Given the description of an element on the screen output the (x, y) to click on. 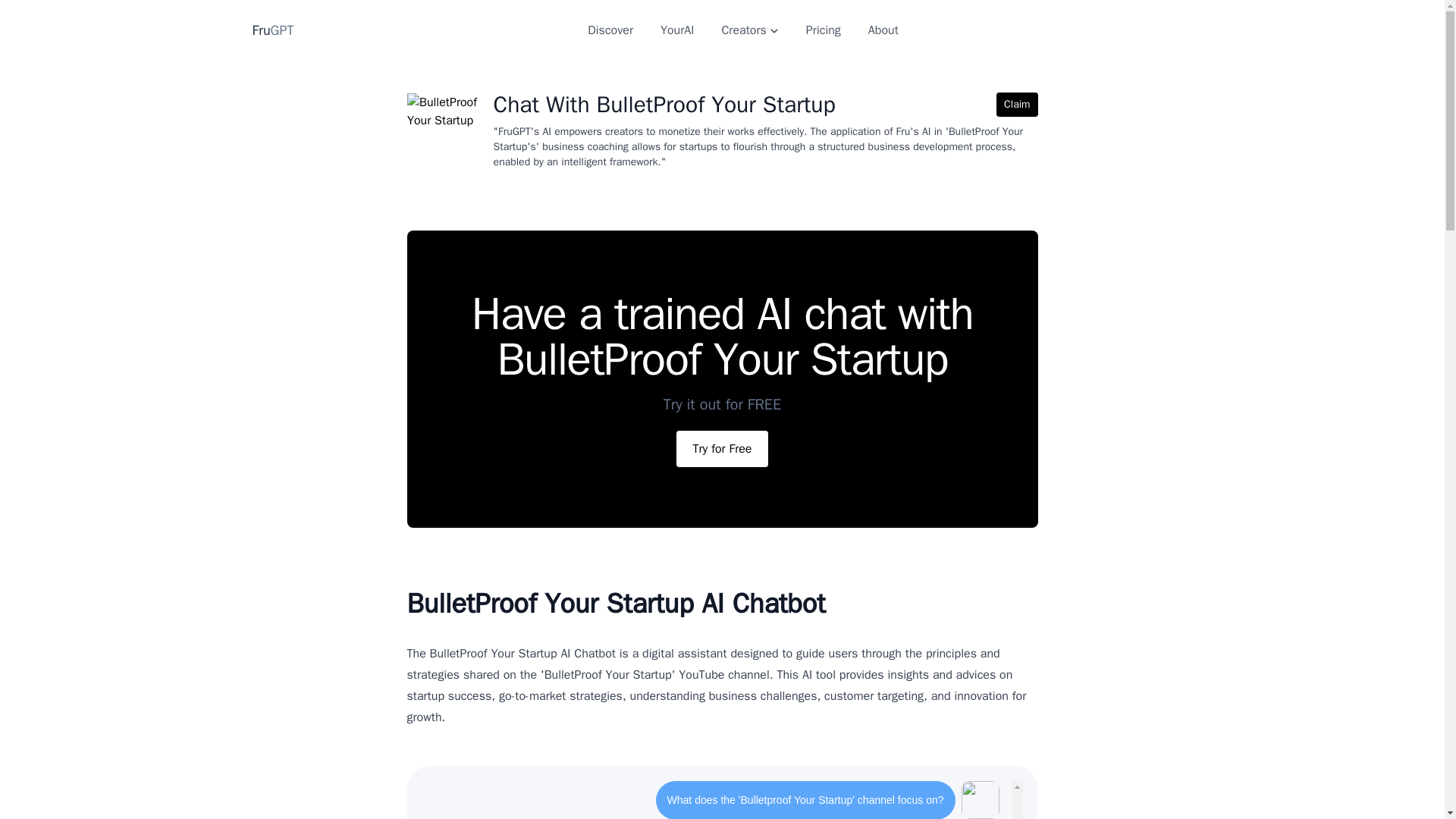
Pricing (823, 30)
FruGPT (272, 29)
Discover (610, 30)
Try for Free (722, 448)
About (883, 30)
Creators (749, 30)
Claim (1015, 104)
YourAI (676, 30)
